Given the description of an element on the screen output the (x, y) to click on. 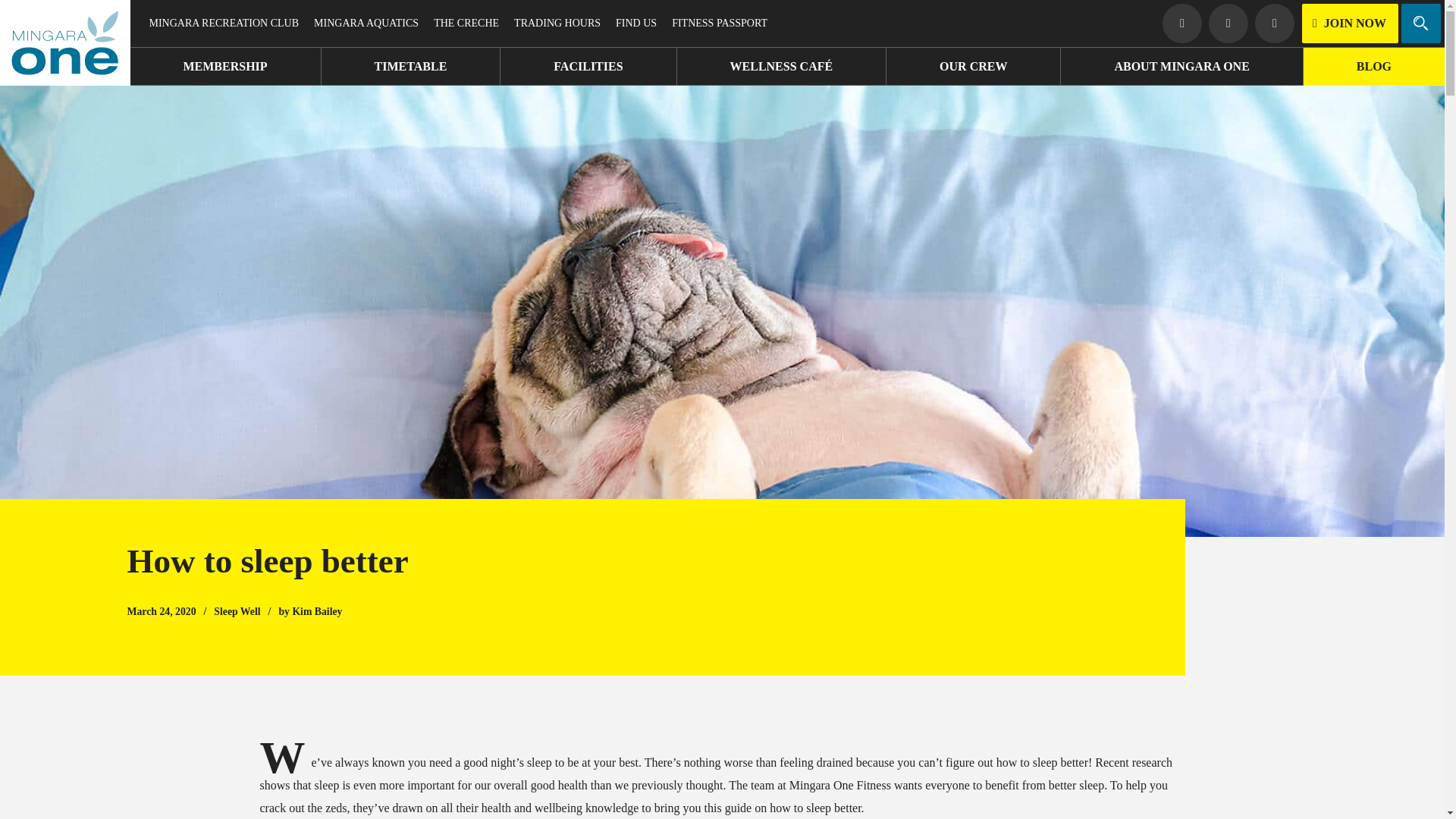
MINGARA RECREATION CLUB (223, 22)
THE CRECHE (466, 22)
FIND US (635, 22)
MINGARA AQUATICS (366, 22)
FITNESS PASSPORT (719, 22)
TRADING HOURS (556, 22)
